Given the description of an element on the screen output the (x, y) to click on. 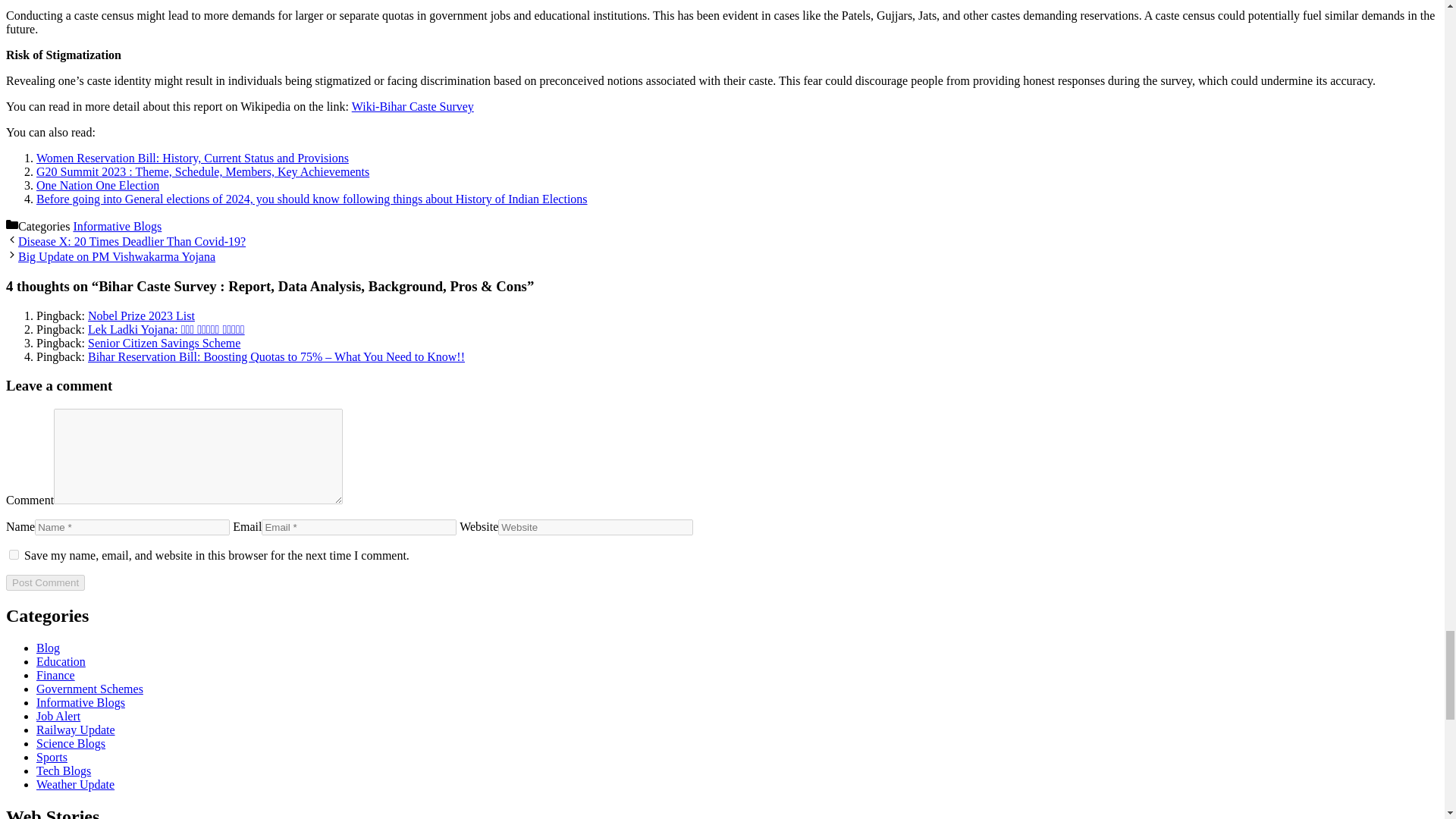
Post Comment (44, 582)
Disease X: 20 Times Deadlier Than Covid-19? (131, 241)
Railway Update (75, 729)
Finance (55, 675)
One Nation One Election (97, 185)
Government Schemes (89, 688)
Senior Citizen Savings Scheme (163, 342)
Sports (51, 757)
Nobel Prize 2023 List (141, 315)
Wiki-Bihar Caste Survey (413, 106)
Education (60, 661)
Big Update on PM Vishwakarma Yojana (116, 256)
Informative Blogs (116, 226)
Informative Blogs (80, 702)
